Given the description of an element on the screen output the (x, y) to click on. 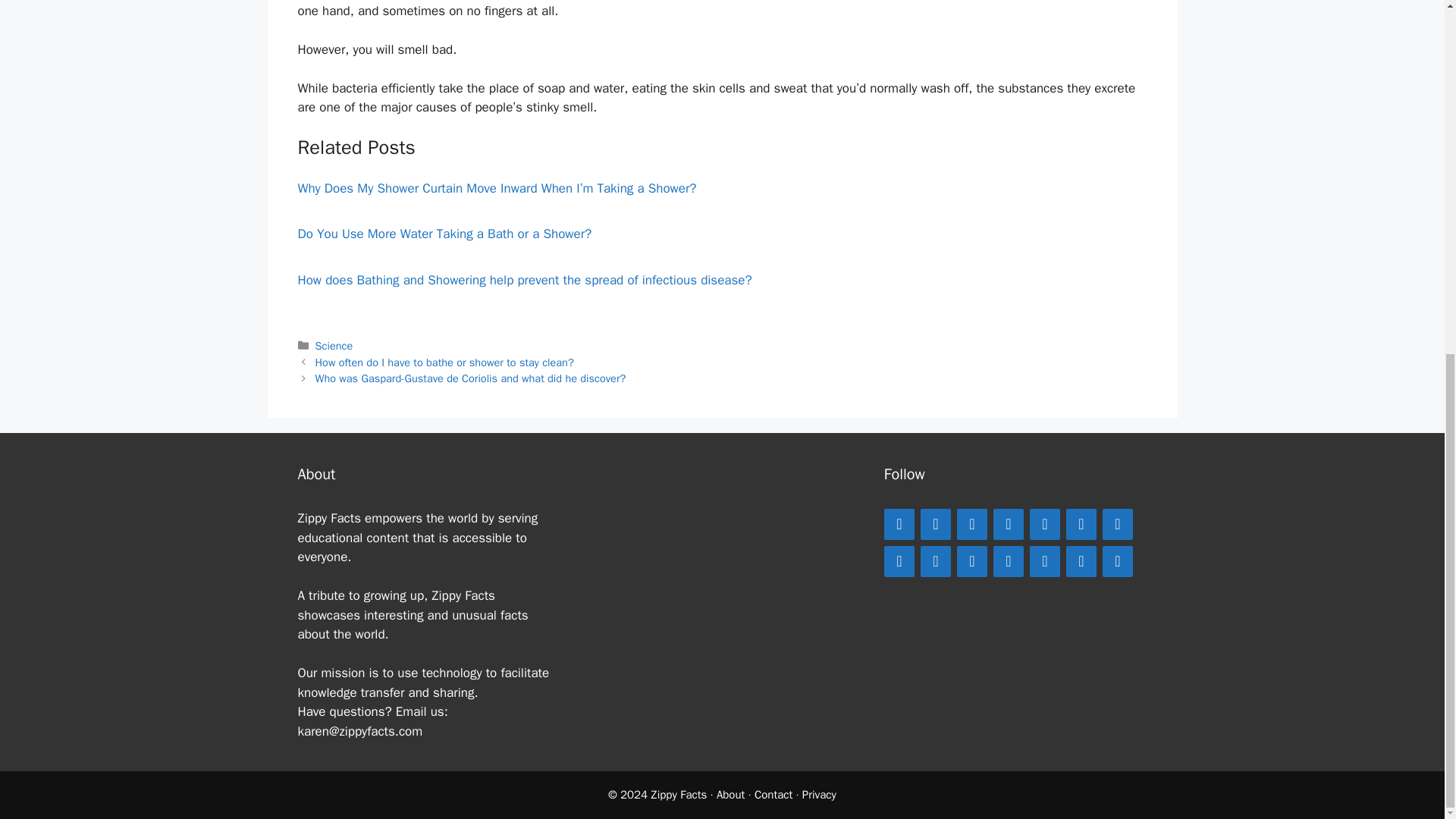
Twitter (971, 523)
Reddit (1117, 523)
How often do I have to bathe or shower to stay clean? (444, 362)
Do You Use More Water Taking a Bath or a Shower? (444, 233)
Yahoo (1117, 561)
WordPress (898, 561)
Flickr (1080, 561)
Science (334, 345)
